Given the description of an element on the screen output the (x, y) to click on. 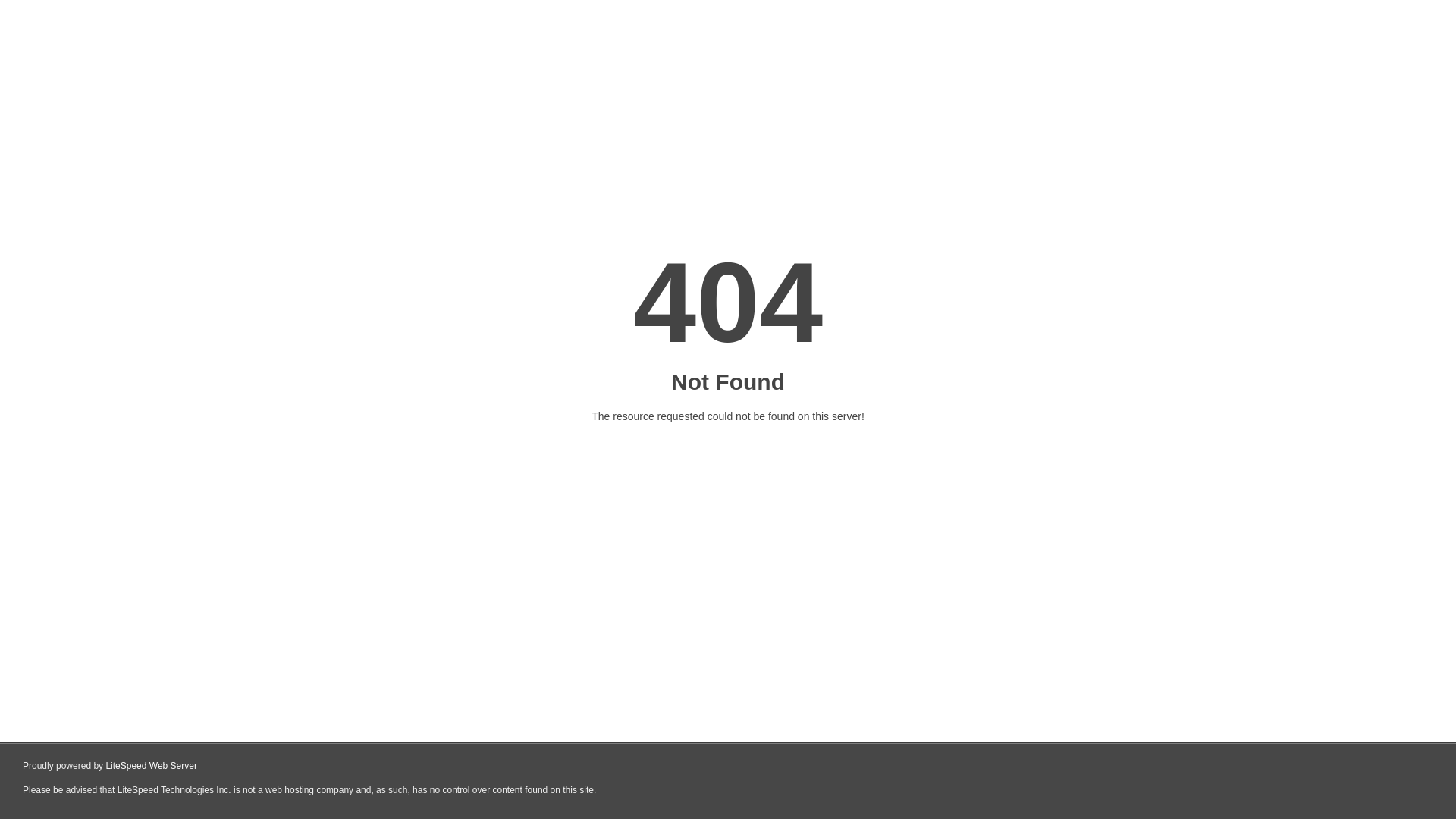
LiteSpeed Web Server Element type: text (151, 765)
